Given the description of an element on the screen output the (x, y) to click on. 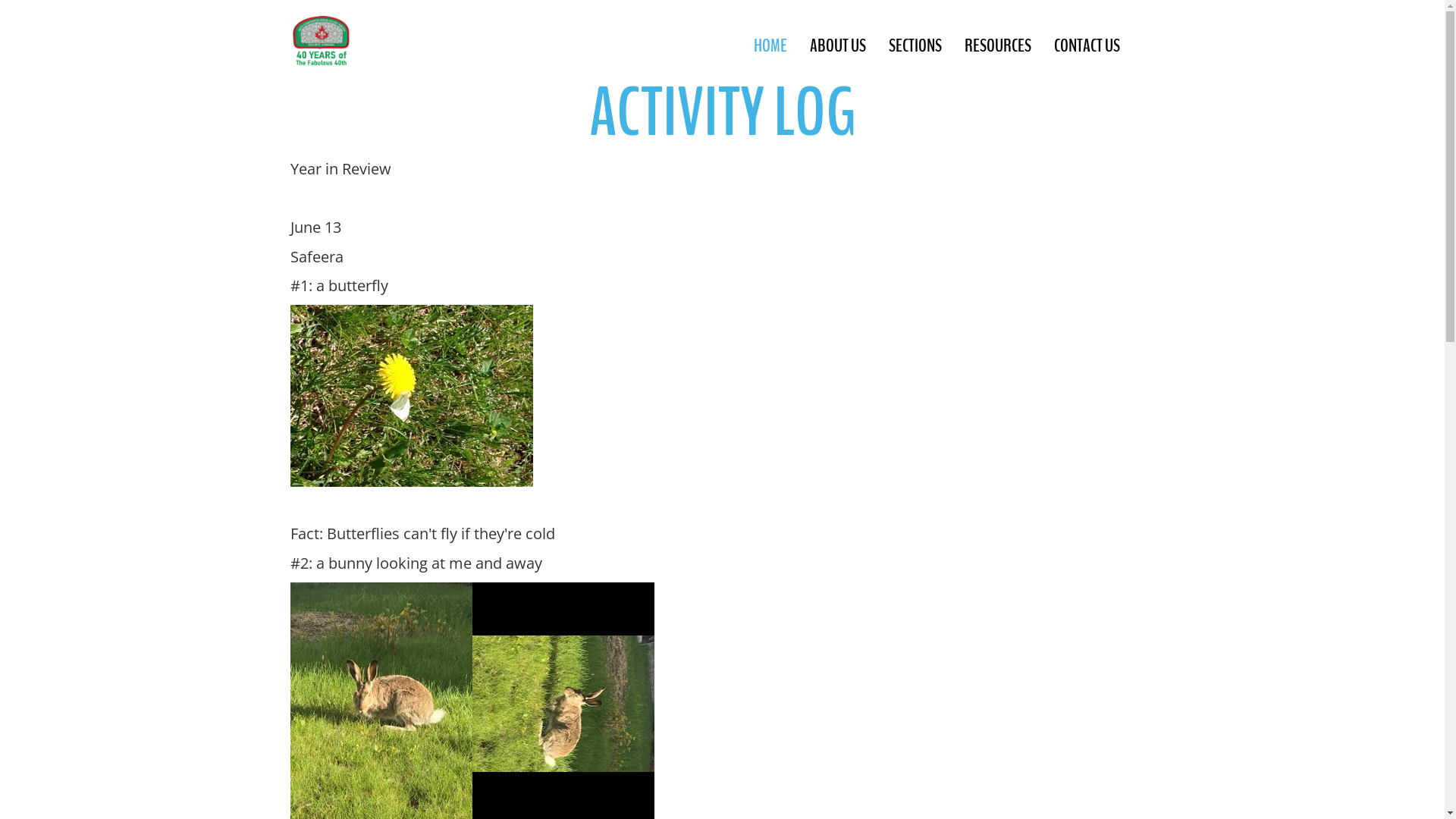
RESOURCES Element type: text (996, 45)
SECTIONS Element type: text (914, 45)
HOME Element type: text (769, 45)
ABOUT US Element type: text (836, 45)
CONTACT US Element type: text (1085, 45)
